Given the description of an element on the screen output the (x, y) to click on. 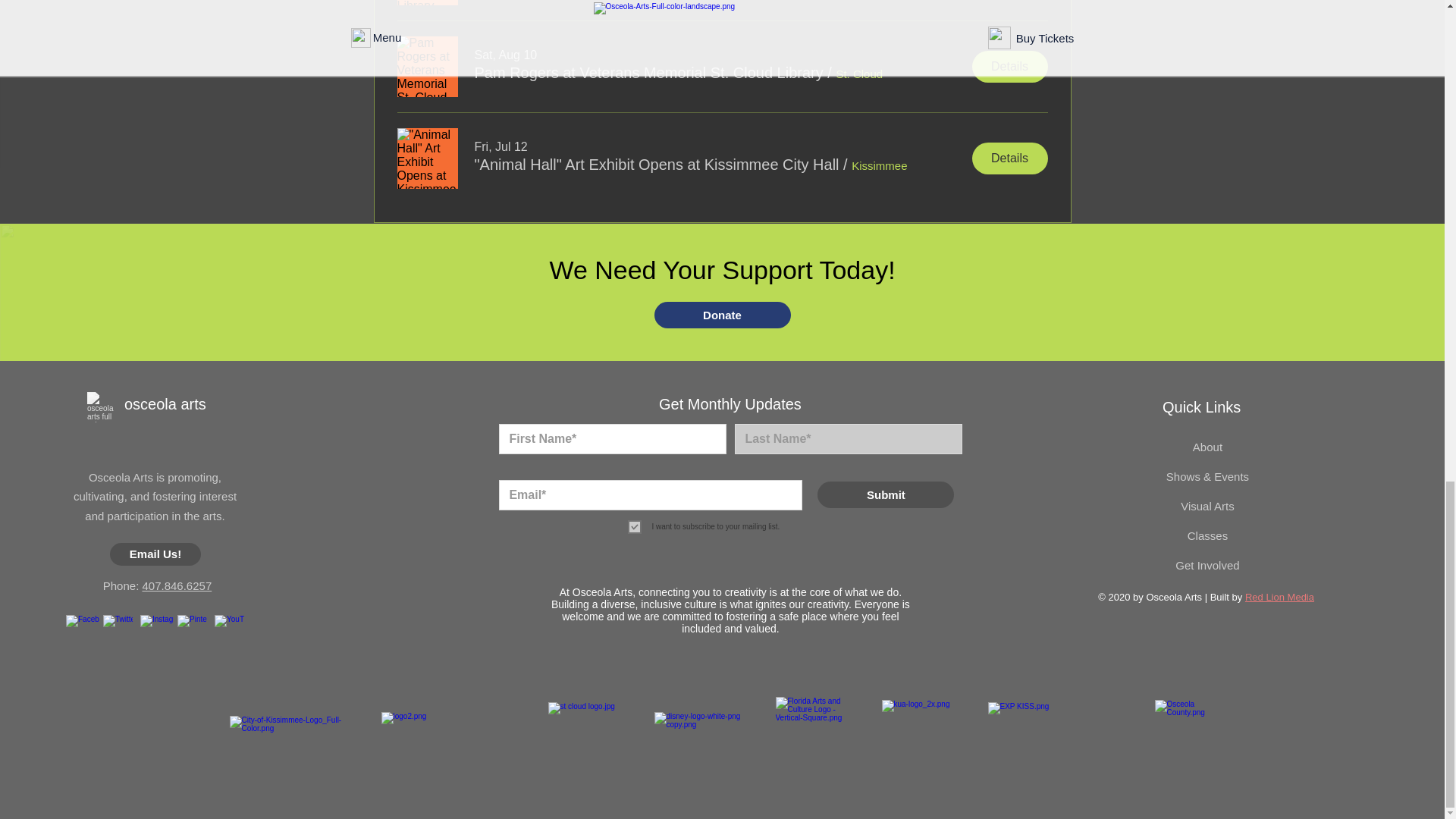
407.846.6257 (176, 585)
Donate (721, 315)
Details (1010, 158)
Details (1010, 66)
